Given the description of an element on the screen output the (x, y) to click on. 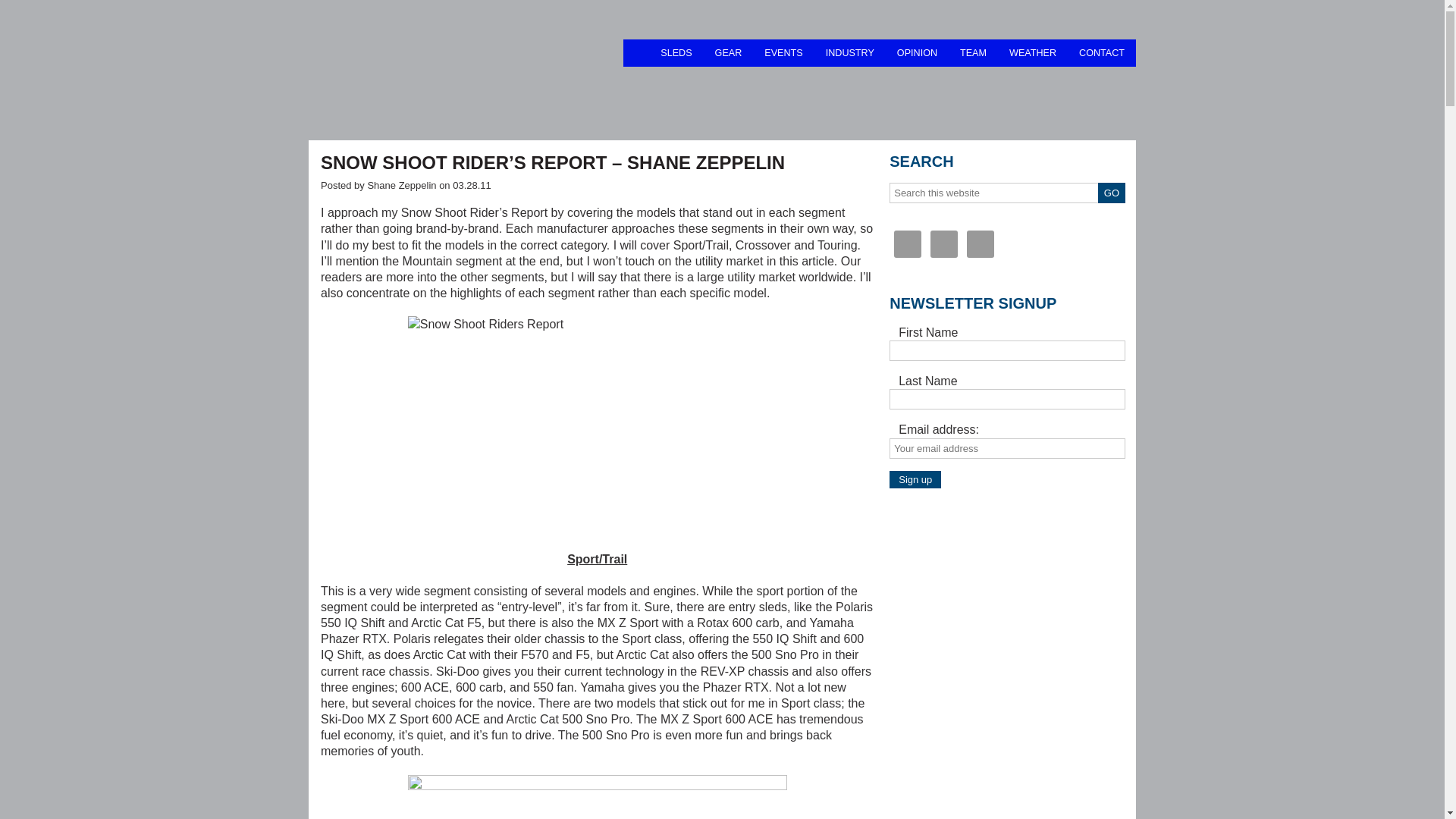
INDUSTRY (849, 52)
CONTACT (1101, 52)
Sign up (914, 479)
SLEDS (676, 52)
snowshoot-report-shane (597, 426)
GEAR (728, 52)
GO (1111, 192)
MaxSled.com Snowmobile Magazine (465, 68)
OPINION (917, 52)
GO (1111, 192)
TEAM (973, 52)
WEATHER (1032, 52)
EVENTS (782, 52)
GO (1111, 192)
Sign up (914, 479)
